Given the description of an element on the screen output the (x, y) to click on. 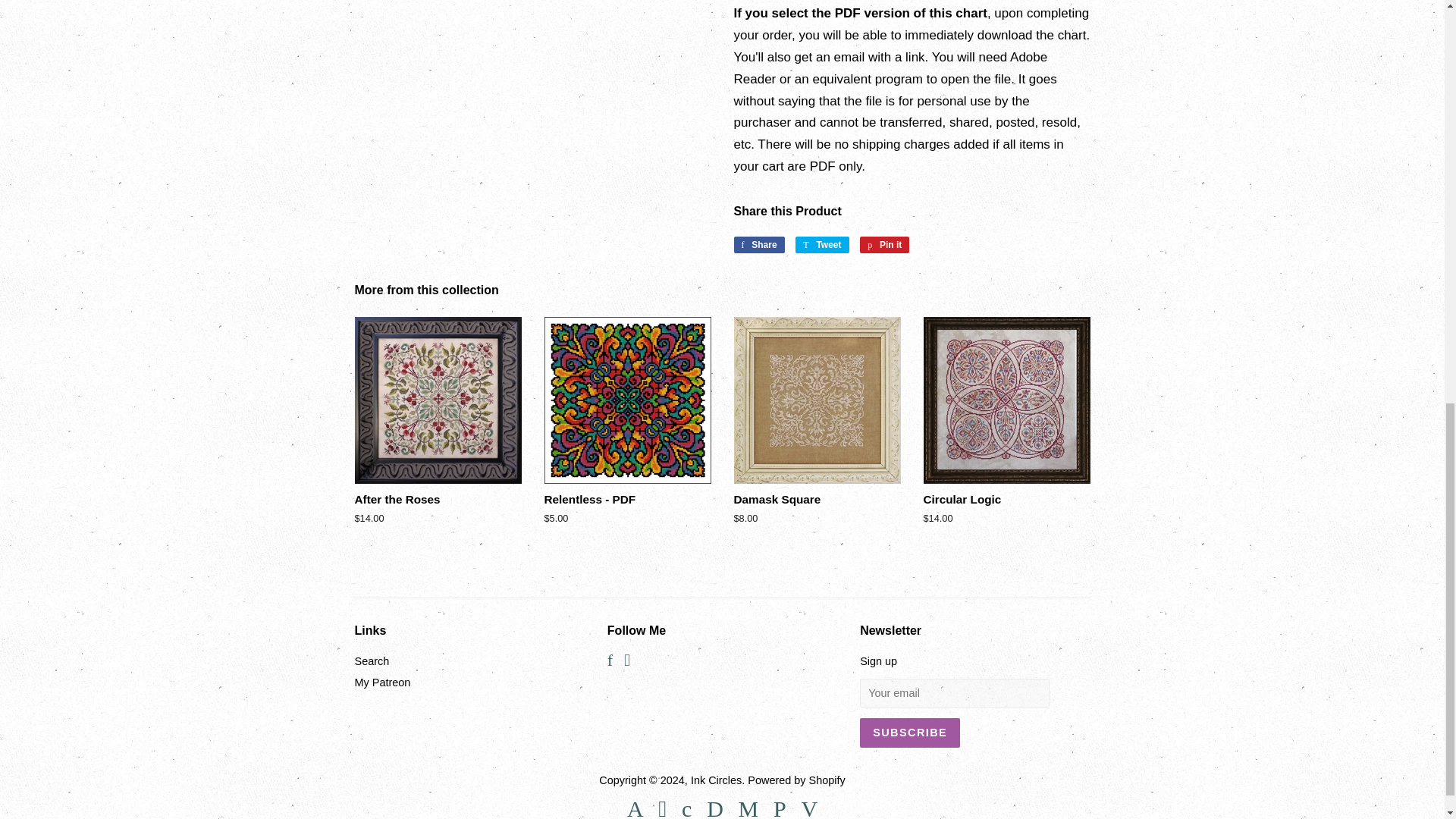
Tweet on Twitter (758, 244)
Subscribe (821, 244)
Pin on Pinterest (909, 732)
Share on Facebook (884, 244)
